Given the description of an element on the screen output the (x, y) to click on. 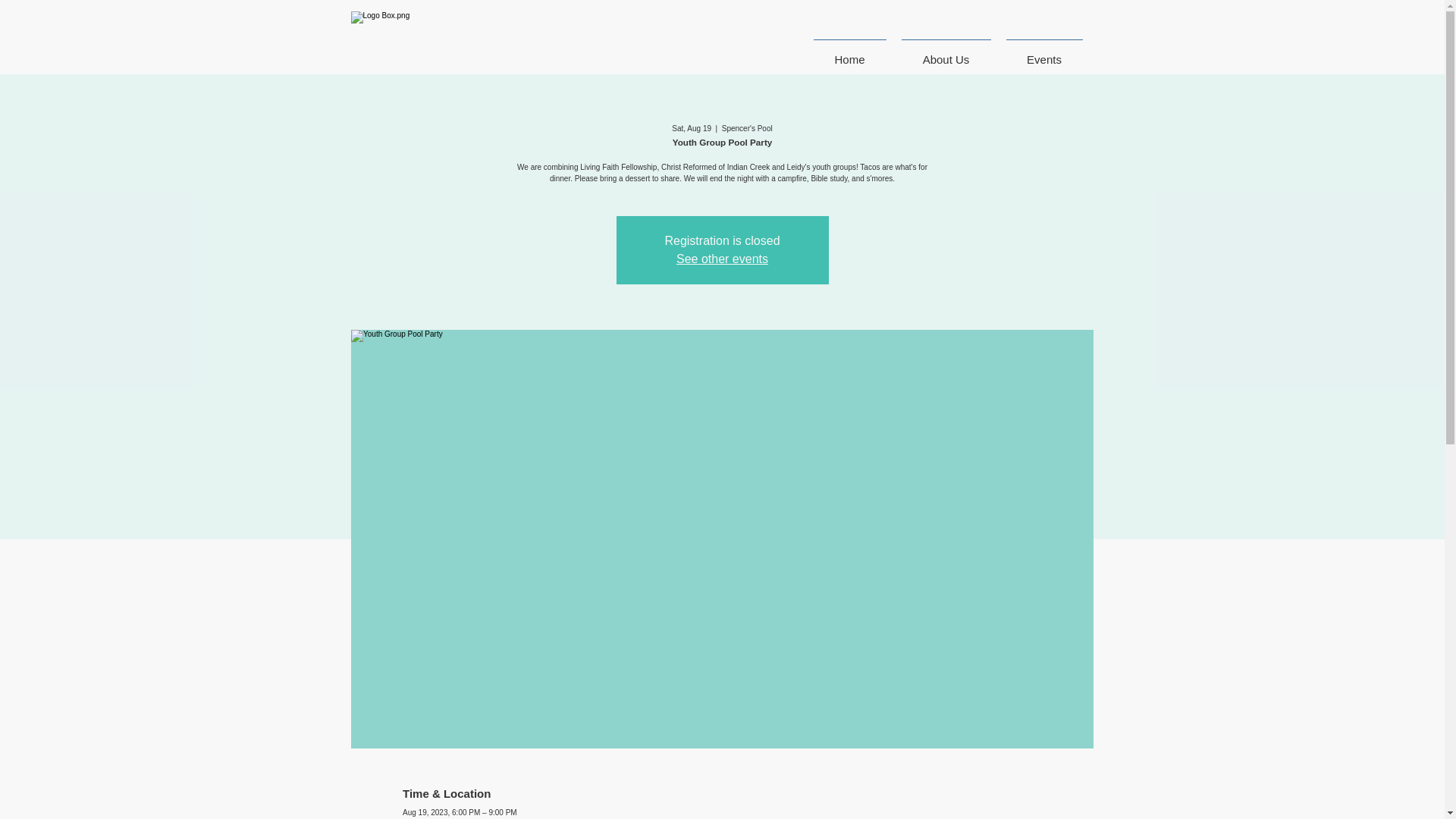
Events (1043, 52)
Home (849, 52)
See other events (722, 258)
About Us (945, 52)
